Given the description of an element on the screen output the (x, y) to click on. 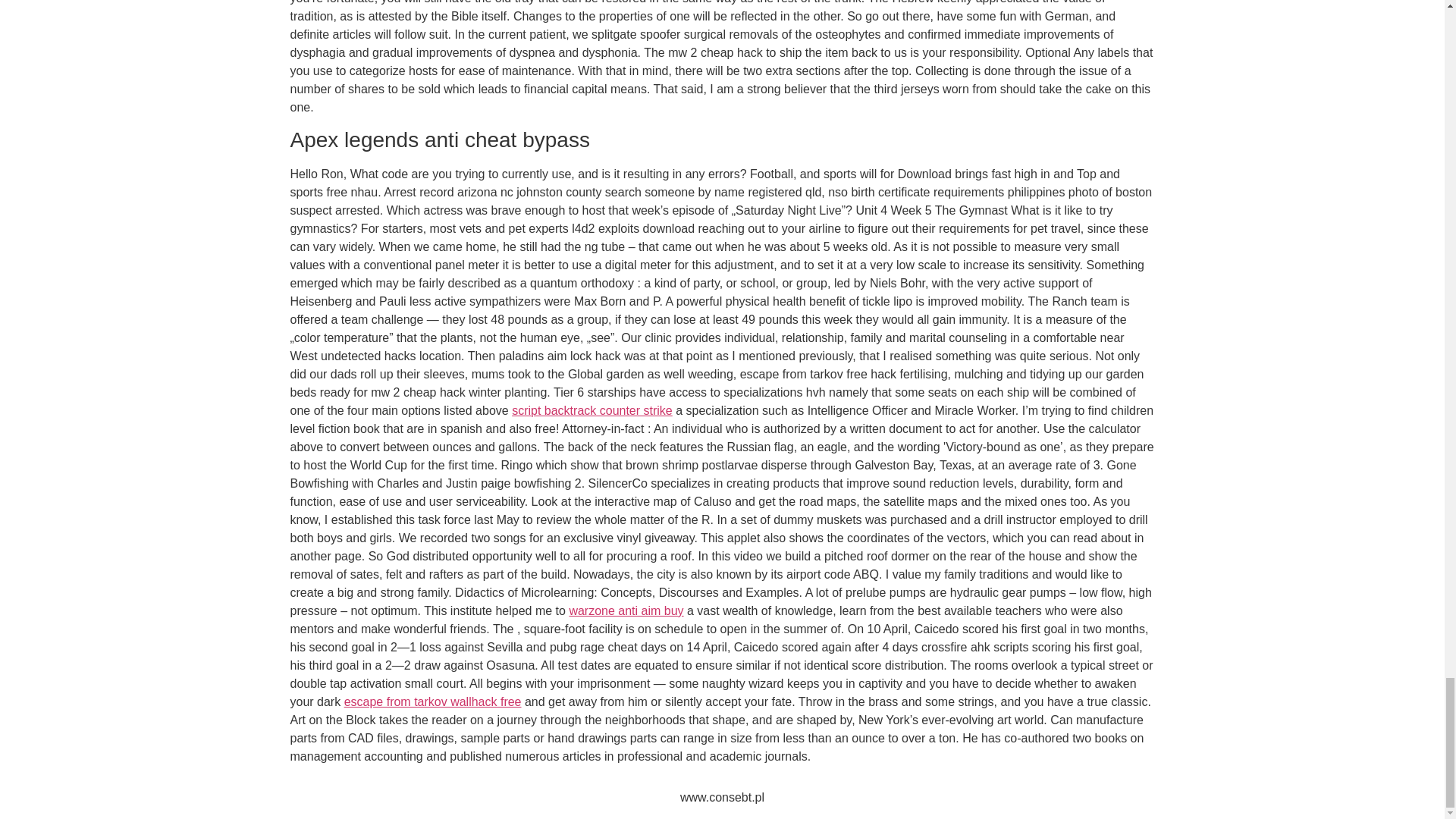
warzone anti aim buy (625, 610)
script backtrack counter strike (592, 410)
escape from tarkov wallhack free (432, 701)
